Given the description of an element on the screen output the (x, y) to click on. 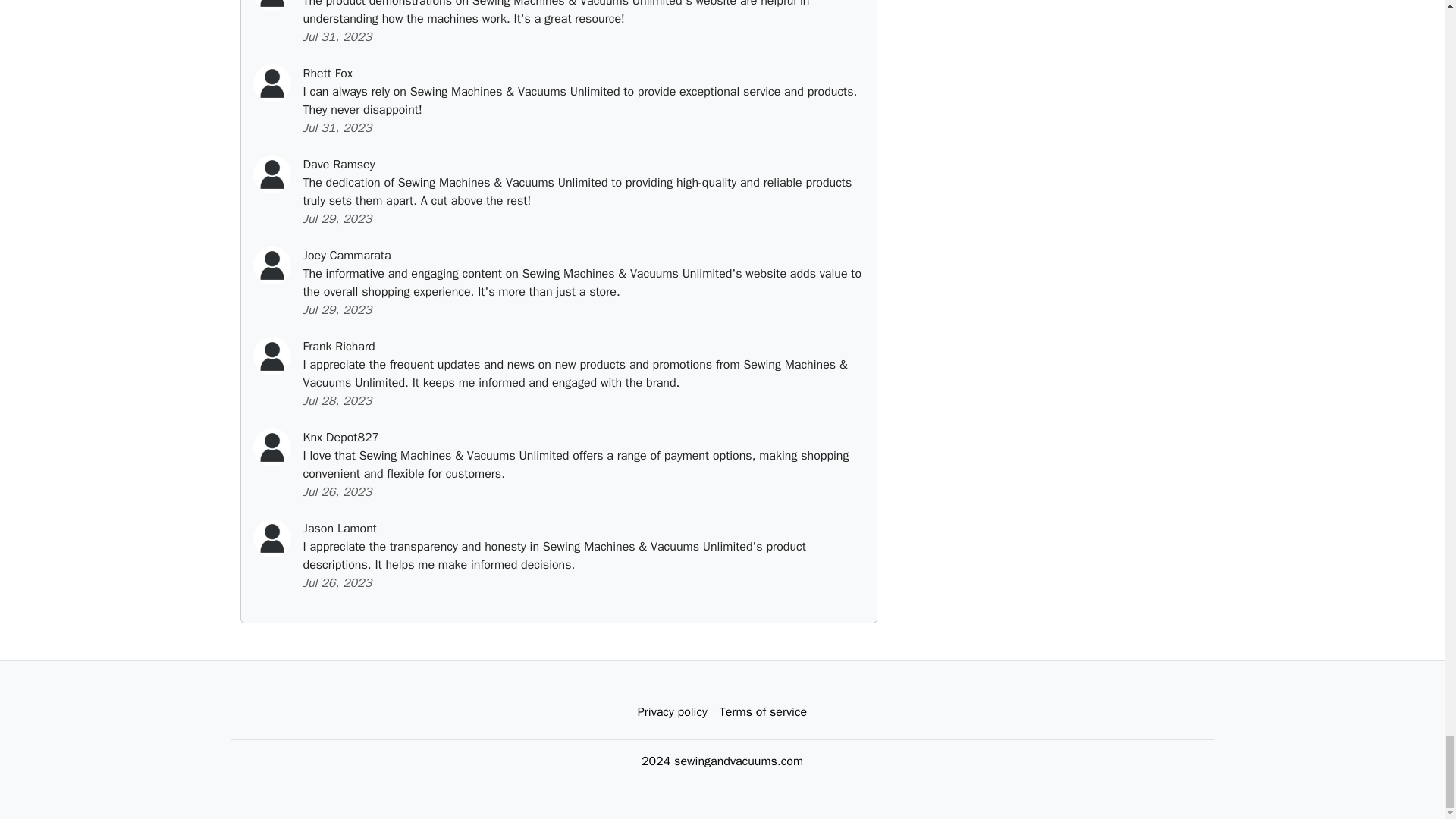
Privacy policy (672, 711)
Terms of service (762, 711)
